Given the description of an element on the screen output the (x, y) to click on. 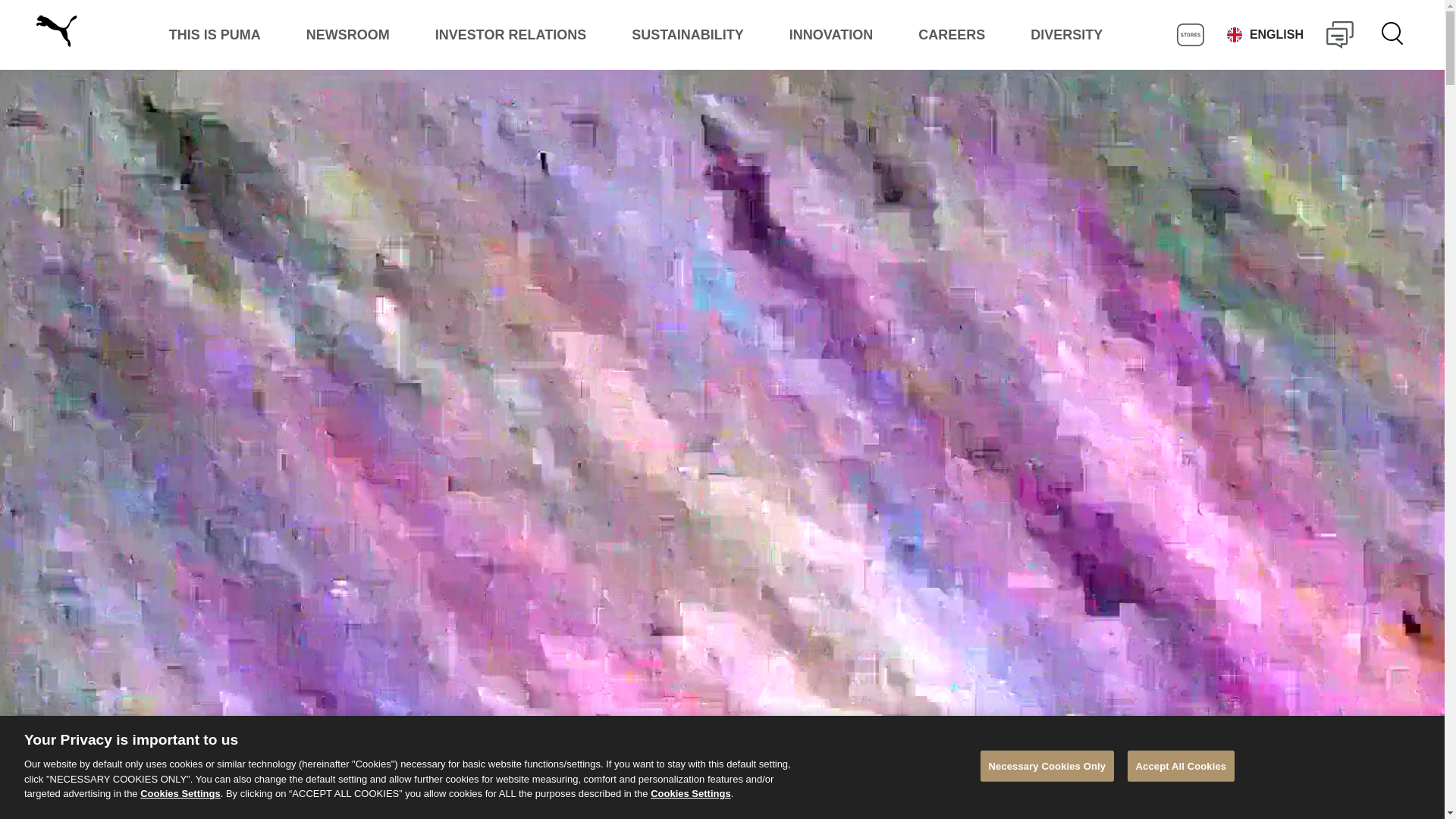
THIS IS PUMA (215, 34)
NEWSROOM (347, 34)
INVESTOR RELATIONS (510, 34)
